Given the description of an element on the screen output the (x, y) to click on. 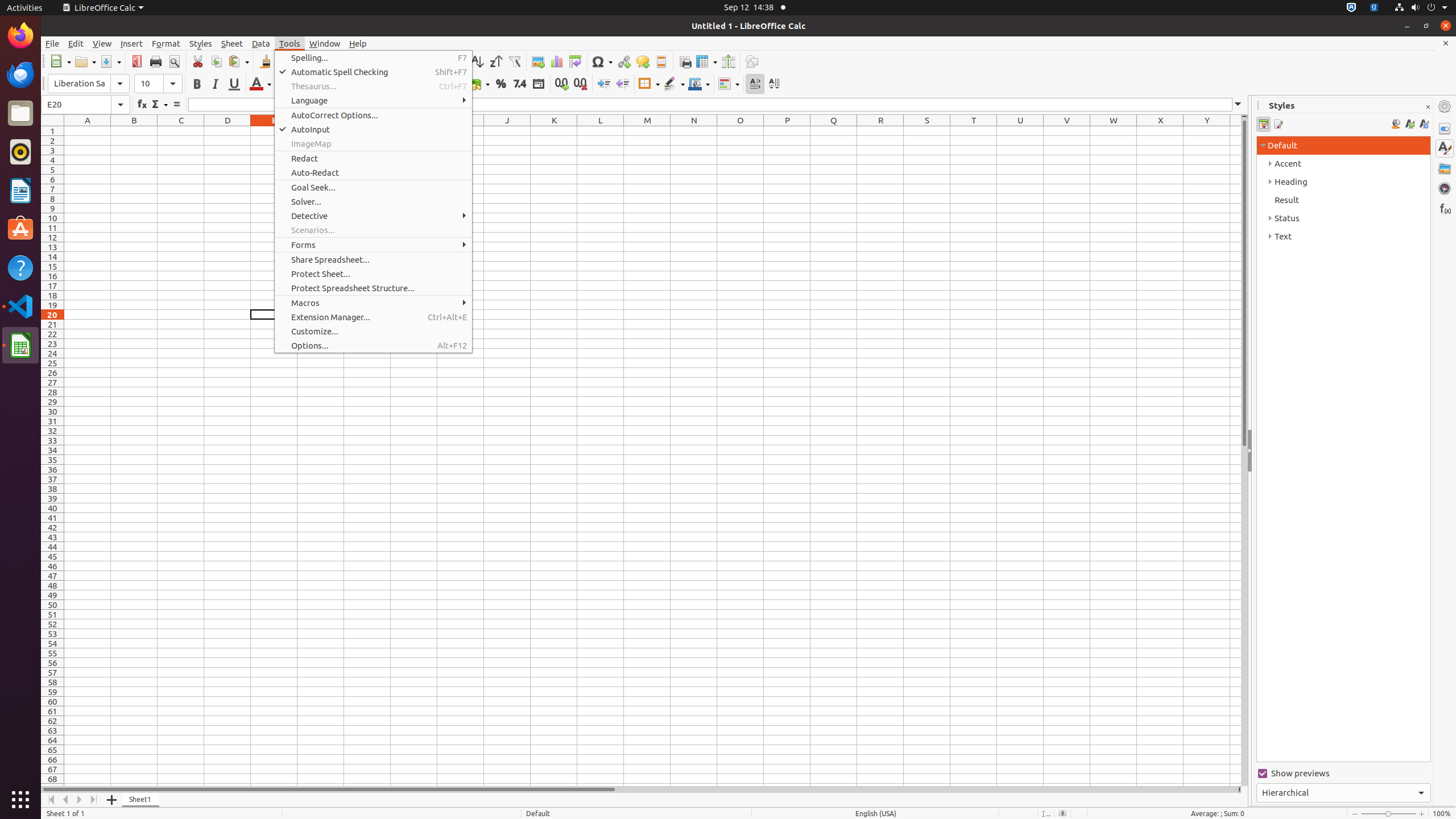
Border Style Element type: push-button (673, 83)
Select Function Element type: push-button (159, 104)
Split Window Element type: push-button (727, 61)
Format Element type: menu (165, 43)
Print Preview Element type: toggle-button (173, 61)
